Given the description of an element on the screen output the (x, y) to click on. 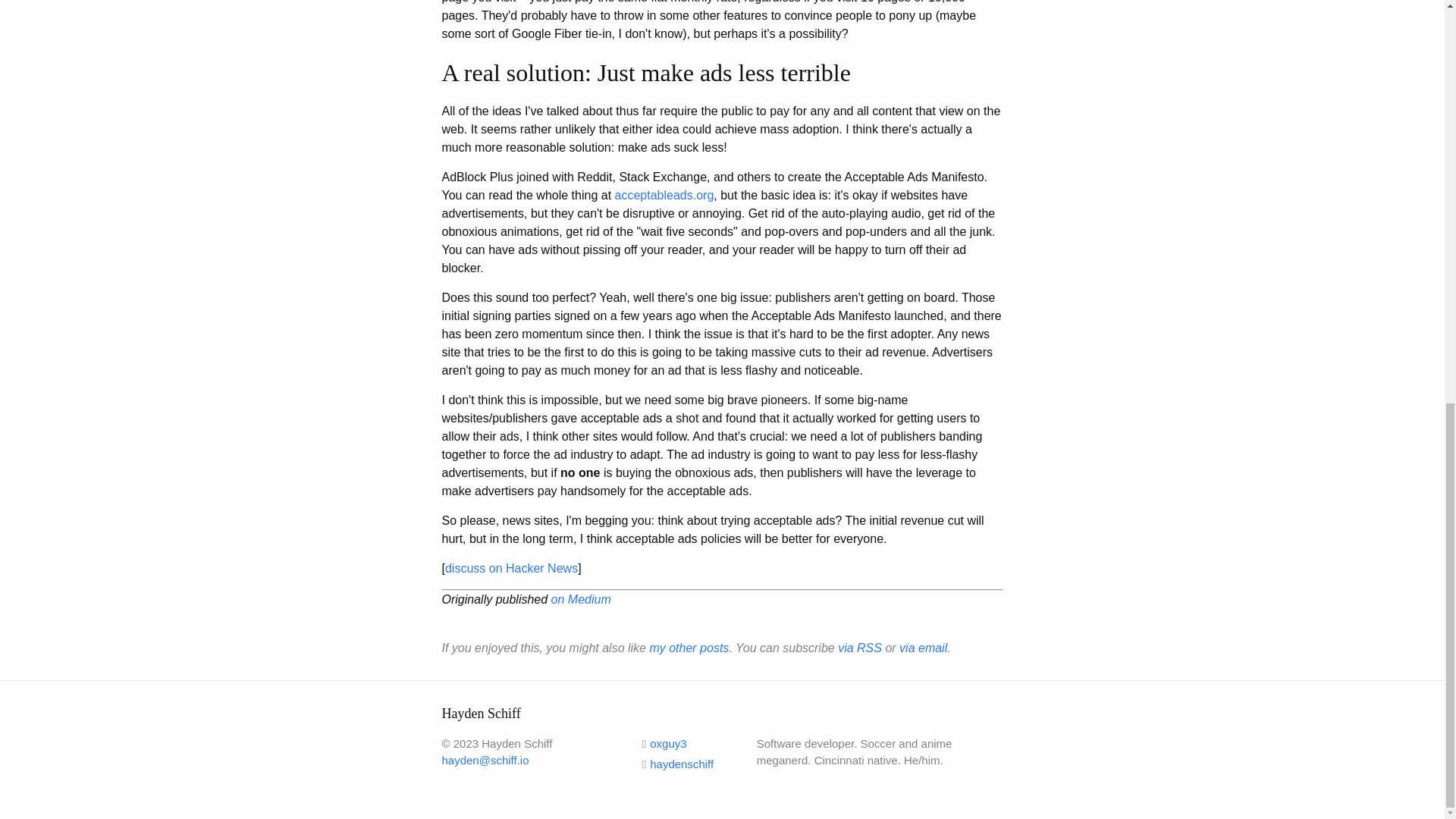
via email (923, 647)
discuss on Hacker News (511, 567)
on Medium (581, 599)
via RSS (860, 647)
my other posts (689, 647)
oxguy3 (664, 743)
haydenschiff (677, 763)
acceptableads.org (664, 195)
